Given the description of an element on the screen output the (x, y) to click on. 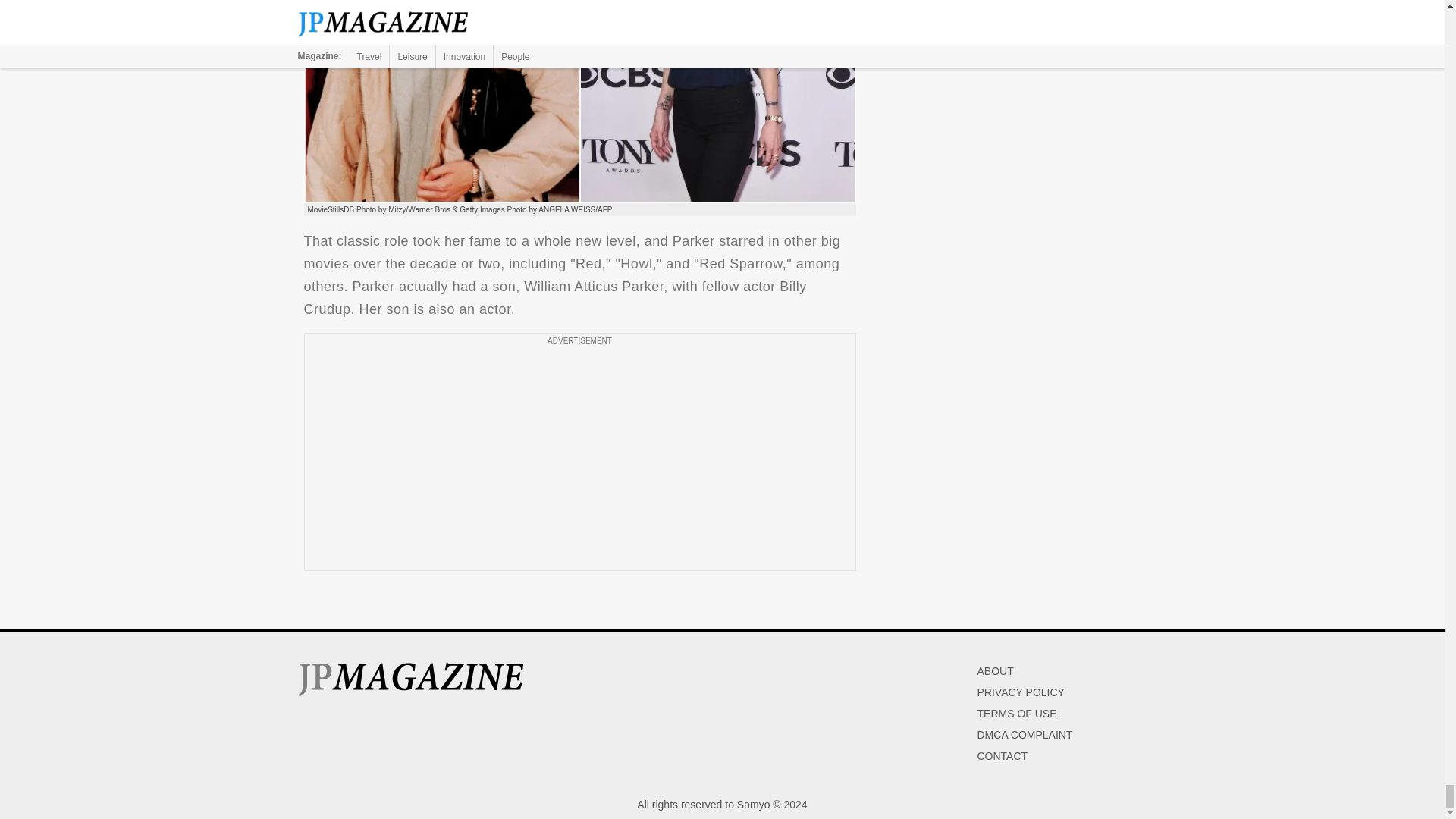
CONTACT (1001, 756)
TERMS OF USE (1016, 713)
DMCA COMPLAINT (1023, 734)
ABOUT (994, 671)
PRIVACY POLICY (1020, 692)
